Given the description of an element on the screen output the (x, y) to click on. 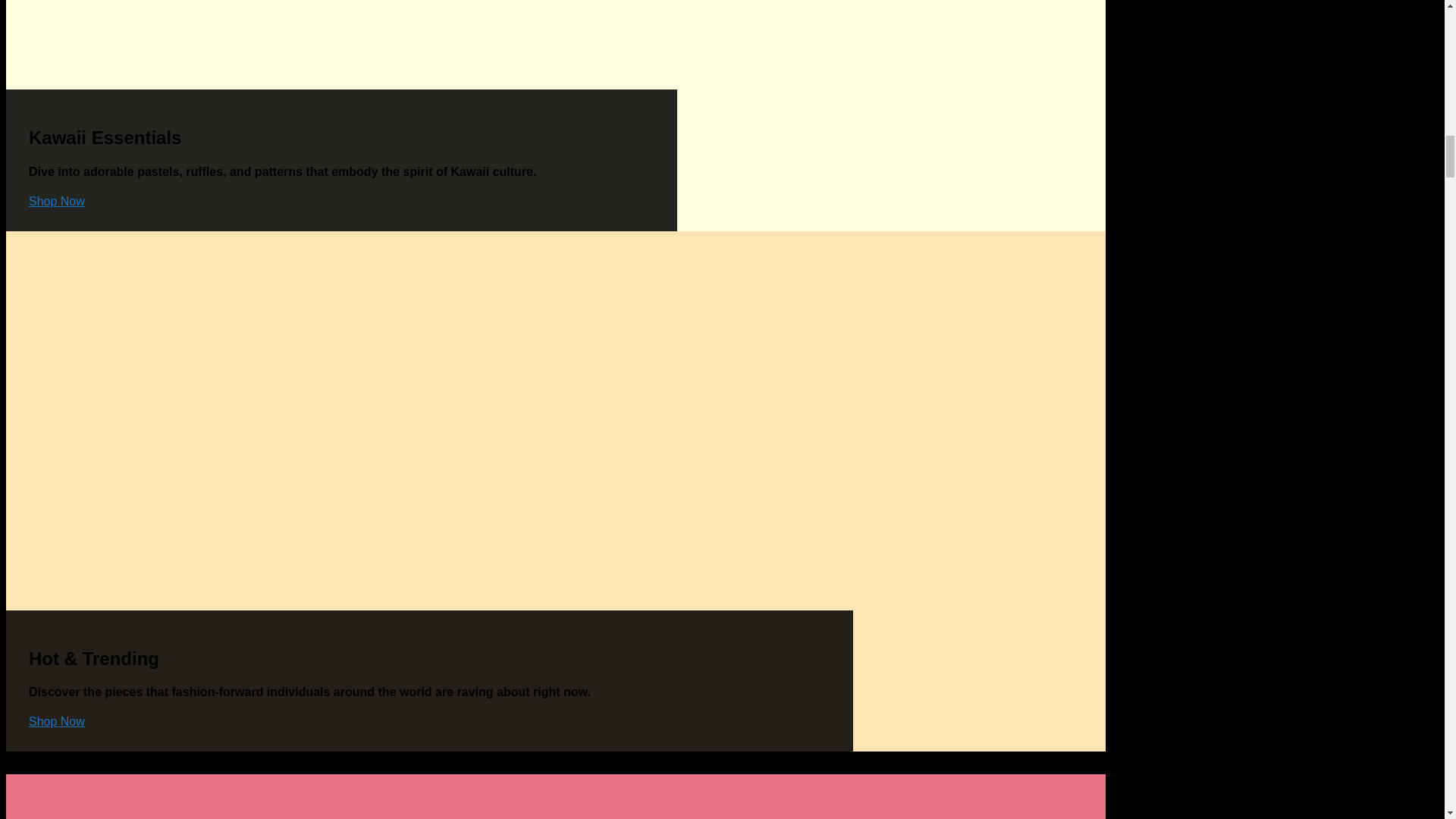
Shop Now (56, 721)
Shop Now (56, 201)
